Given the description of an element on the screen output the (x, y) to click on. 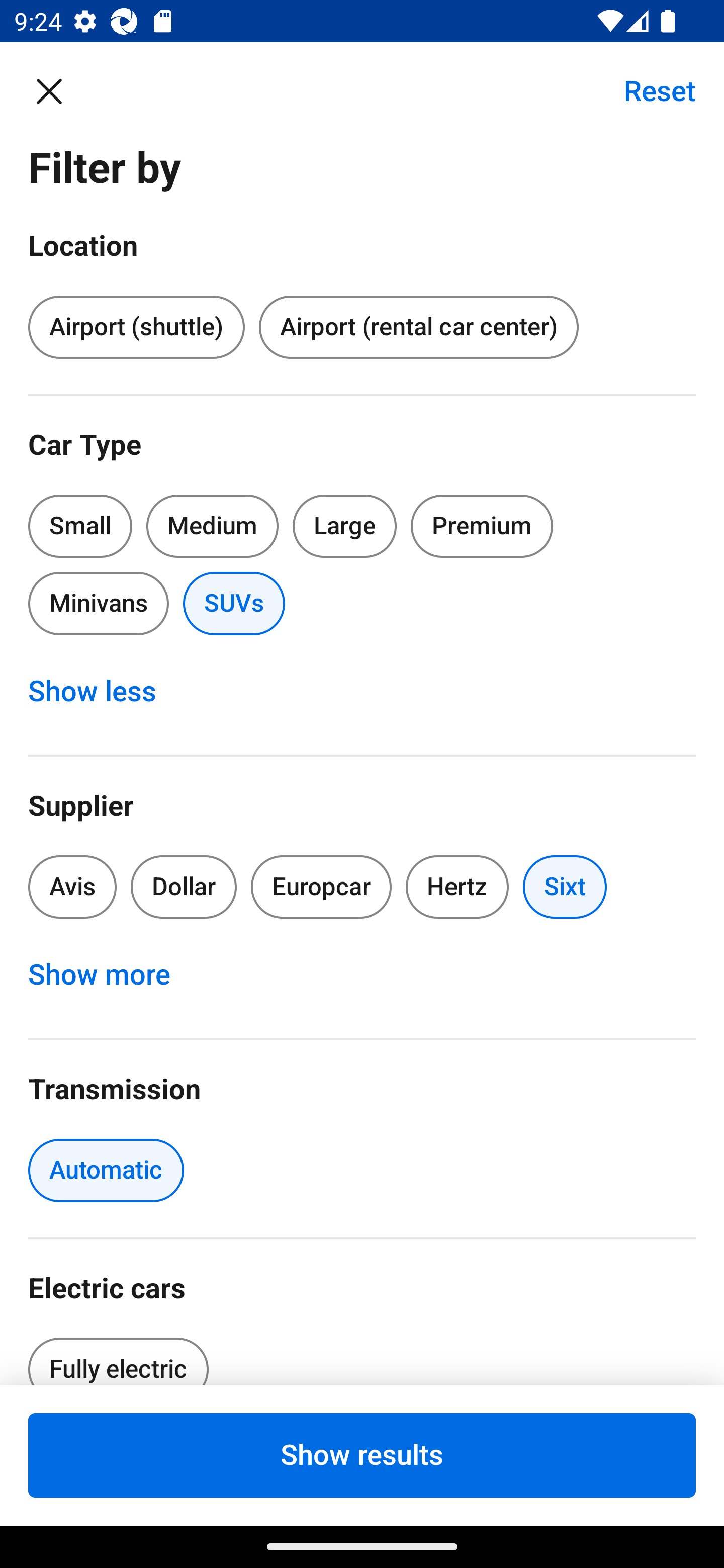
Close (59, 90)
Reset (649, 90)
Airport (shuttle) (136, 327)
Airport (rental car center) (418, 327)
Small (80, 525)
Medium (212, 525)
Large (344, 525)
Premium (482, 525)
Minivans (98, 603)
Show less (102, 691)
Avis (72, 887)
Dollar (183, 887)
Europcar (321, 887)
Hertz (457, 887)
Show more (109, 974)
Fully electric (118, 1355)
Show results (361, 1454)
